Given the description of an element on the screen output the (x, y) to click on. 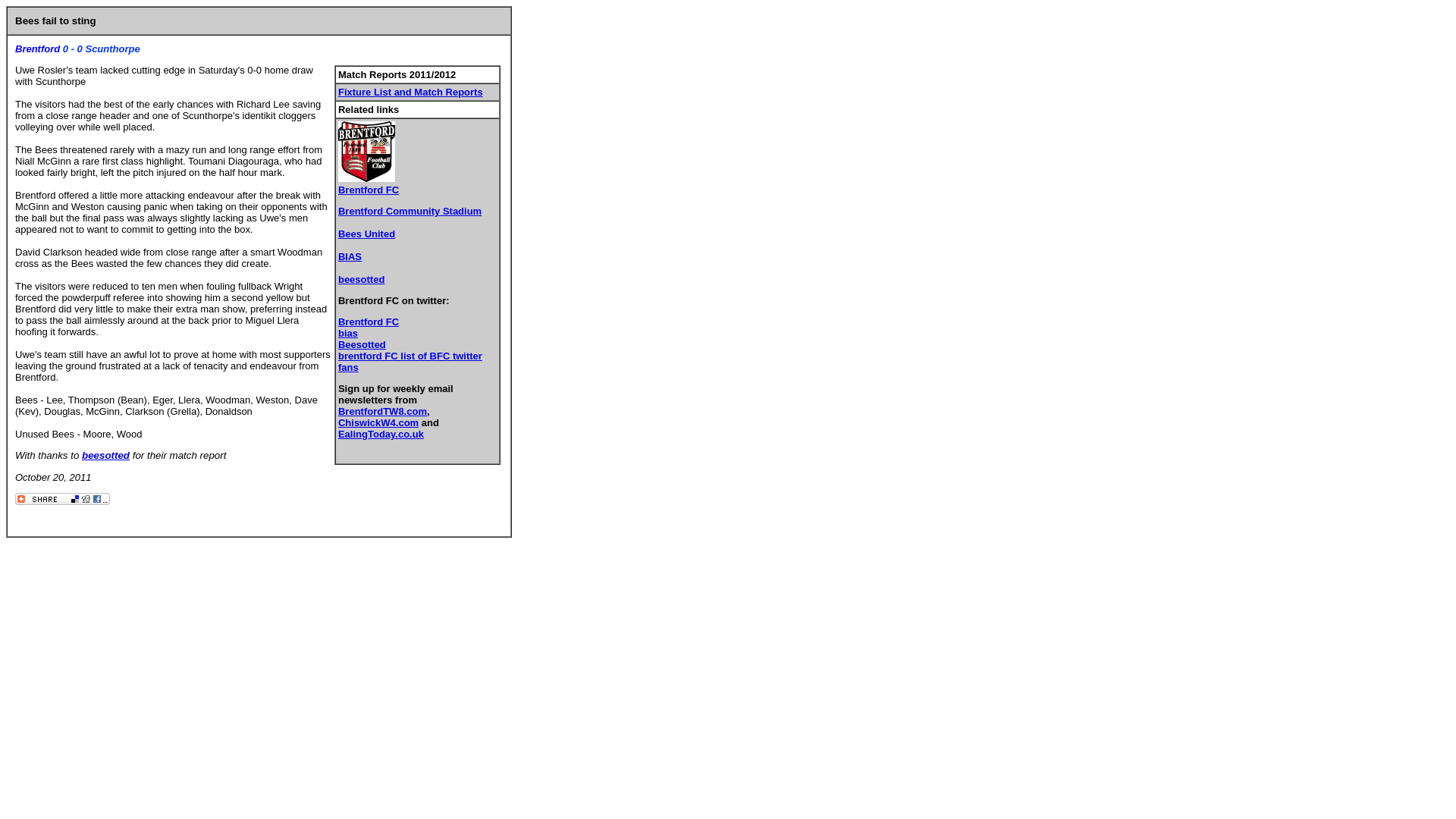
Brentford FC (367, 189)
EalingToday.co.uk (380, 433)
Bees United (365, 233)
Brentford FC (367, 321)
beesotted (105, 455)
bias (347, 333)
beesotted (360, 279)
BIAS (349, 256)
brentford FC list of BFC twitter fans (409, 361)
Fixture List and Match Reports (410, 91)
